Given the description of an element on the screen output the (x, y) to click on. 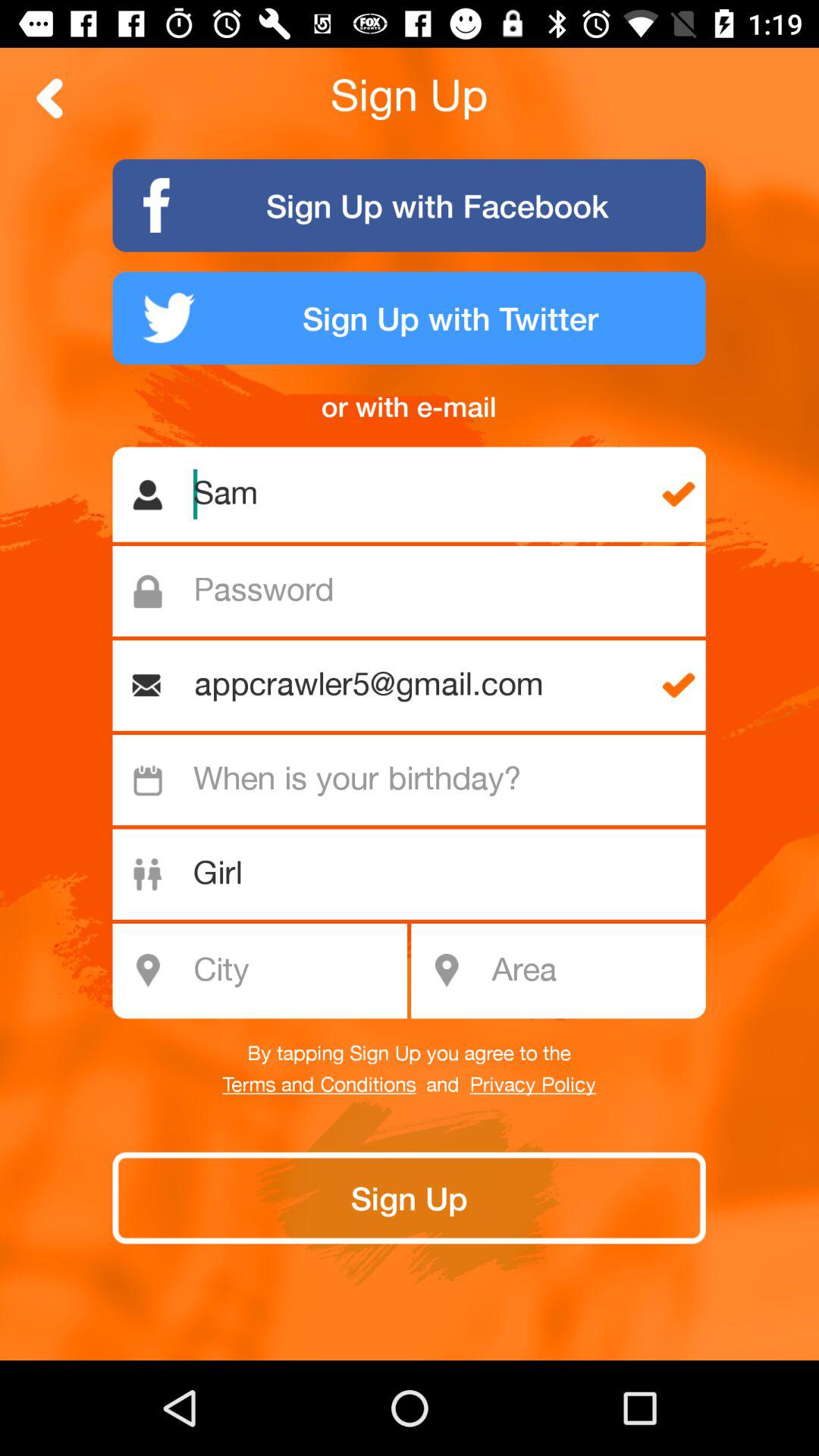
back (50, 98)
